Given the description of an element on the screen output the (x, y) to click on. 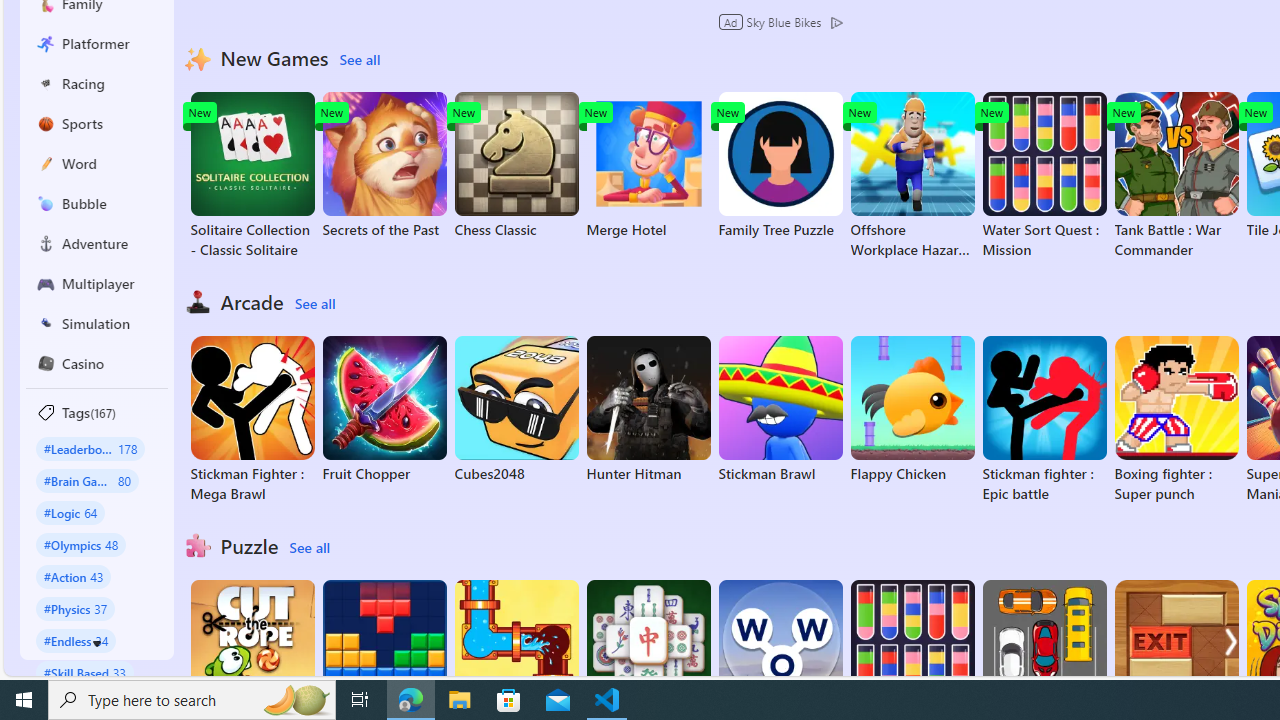
#Olympics 48 (80, 544)
Stickman Fighter : Mega Brawl (251, 419)
Stickman fighter : Epic battle (1044, 419)
Merge Hotel (648, 165)
Solitaire Collection - Classic Solitaire (251, 175)
#Physics 37 (75, 608)
Secrets of the Past (384, 165)
Cubes2048 (516, 409)
#Brain Games 80 (87, 480)
Family Tree Puzzle (780, 165)
#Skill Based 33 (84, 672)
Tank Battle : War Commander (1176, 175)
Water Sort Quest : Mission (1044, 175)
